Given the description of an element on the screen output the (x, y) to click on. 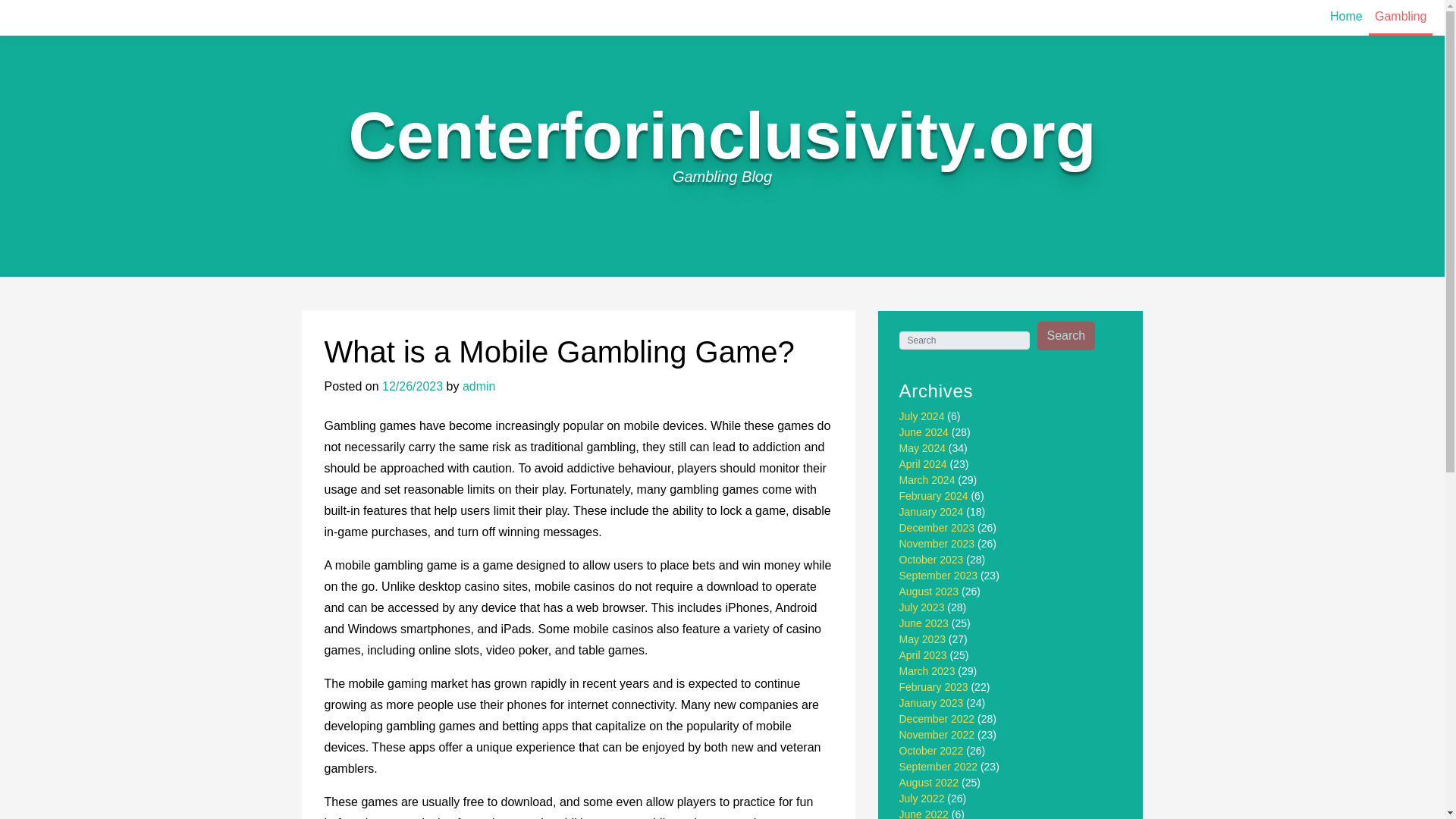
July 2022 (921, 798)
Home (1345, 16)
July 2023 (921, 607)
March 2024 (927, 480)
June 2022 (924, 813)
Gambling (1400, 18)
August 2022 (929, 782)
May 2023 (921, 639)
February 2023 (933, 686)
December 2023 (937, 527)
August 2023 (929, 591)
September 2022 (938, 766)
November 2022 (937, 734)
January 2023 (931, 702)
November 2023 (937, 543)
